Given the description of an element on the screen output the (x, y) to click on. 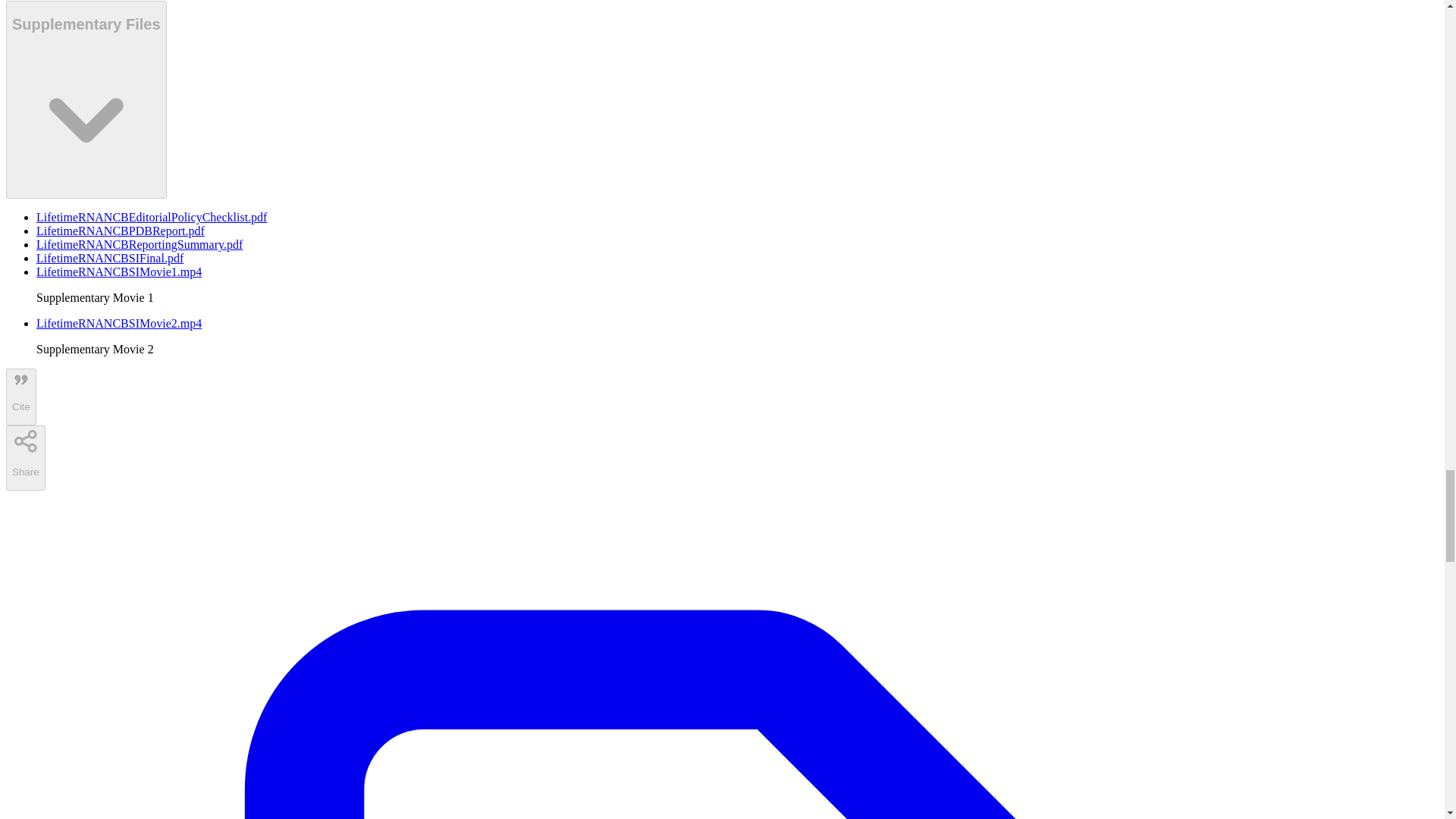
LifetimeRNANCBSIFinal.pdf (109, 257)
LifetimeRNANCBSIMovie2.mp4 (119, 323)
LifetimeRNANCBEditorialPolicyChecklist.pdf (151, 216)
LifetimeRNANCBSIMovie1.mp4 (119, 271)
LifetimeRNANCBPDBReport.pdf (120, 230)
Supplementary Files (86, 99)
LifetimeRNANCBReportingSummary.pdf (139, 244)
